Given the description of an element on the screen output the (x, y) to click on. 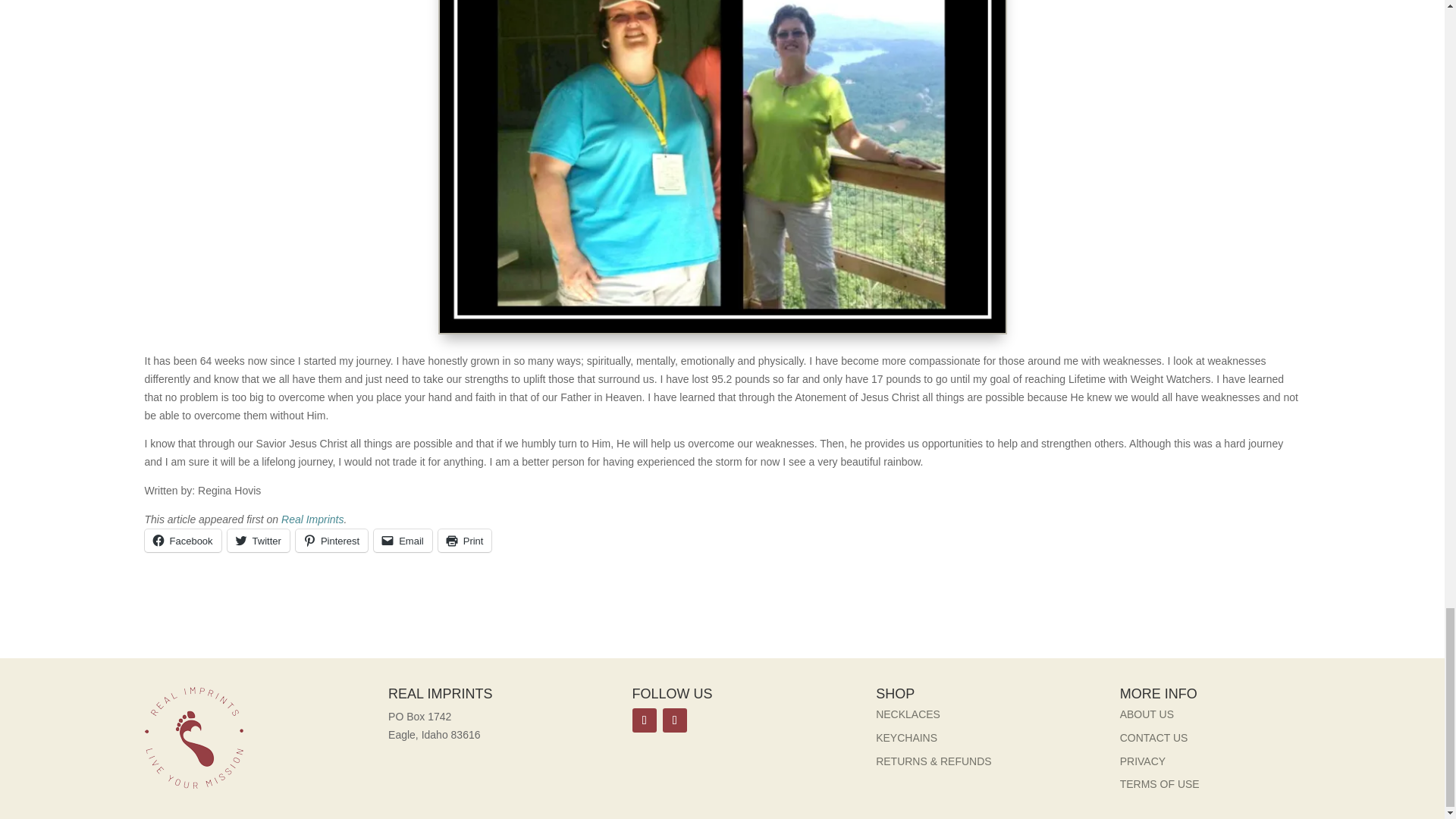
Click to share on Twitter (258, 540)
Email (403, 540)
TERMS OF USE (1159, 784)
Pinterest (331, 540)
Print (465, 540)
Click to share on Pinterest (331, 540)
Twitter (258, 540)
Real Imprints (312, 519)
Click to email a link to a friend (403, 540)
Follow on Instagram (674, 720)
PRIVACY (1142, 761)
Keychains (906, 737)
KEYCHAINS (906, 737)
NECKLACES (908, 714)
ABOUT US (1146, 714)
